Given the description of an element on the screen output the (x, y) to click on. 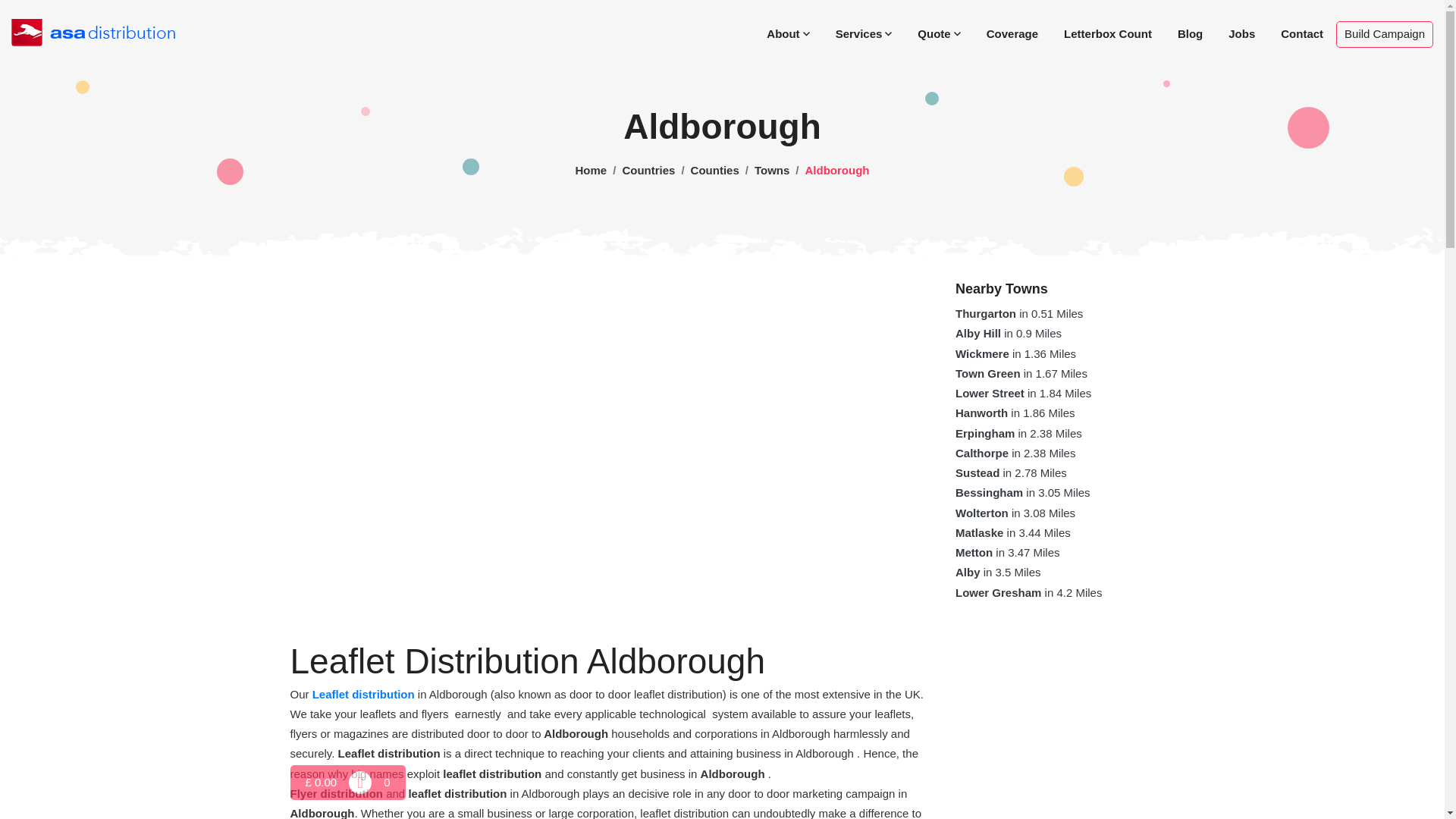
Towns (771, 170)
Letterbox Count (1107, 33)
Alby Hill in 0.9 Miles (1008, 332)
Contact (1302, 33)
Thurgarton in 0.51 Miles (1019, 313)
Lower Street in 1.84 Miles (1022, 392)
Blog (1189, 33)
Bessingham in 3.05 Miles (1022, 492)
Coverage (1012, 33)
Erpingham in 2.38 Miles (1018, 432)
Town Green in 1.67 Miles (1021, 373)
Calthorpe in 2.38 Miles (1015, 452)
Sustead in 2.78 Miles (1011, 472)
Wickmere in 1.36 Miles (1015, 353)
About (788, 33)
